Given the description of an element on the screen output the (x, y) to click on. 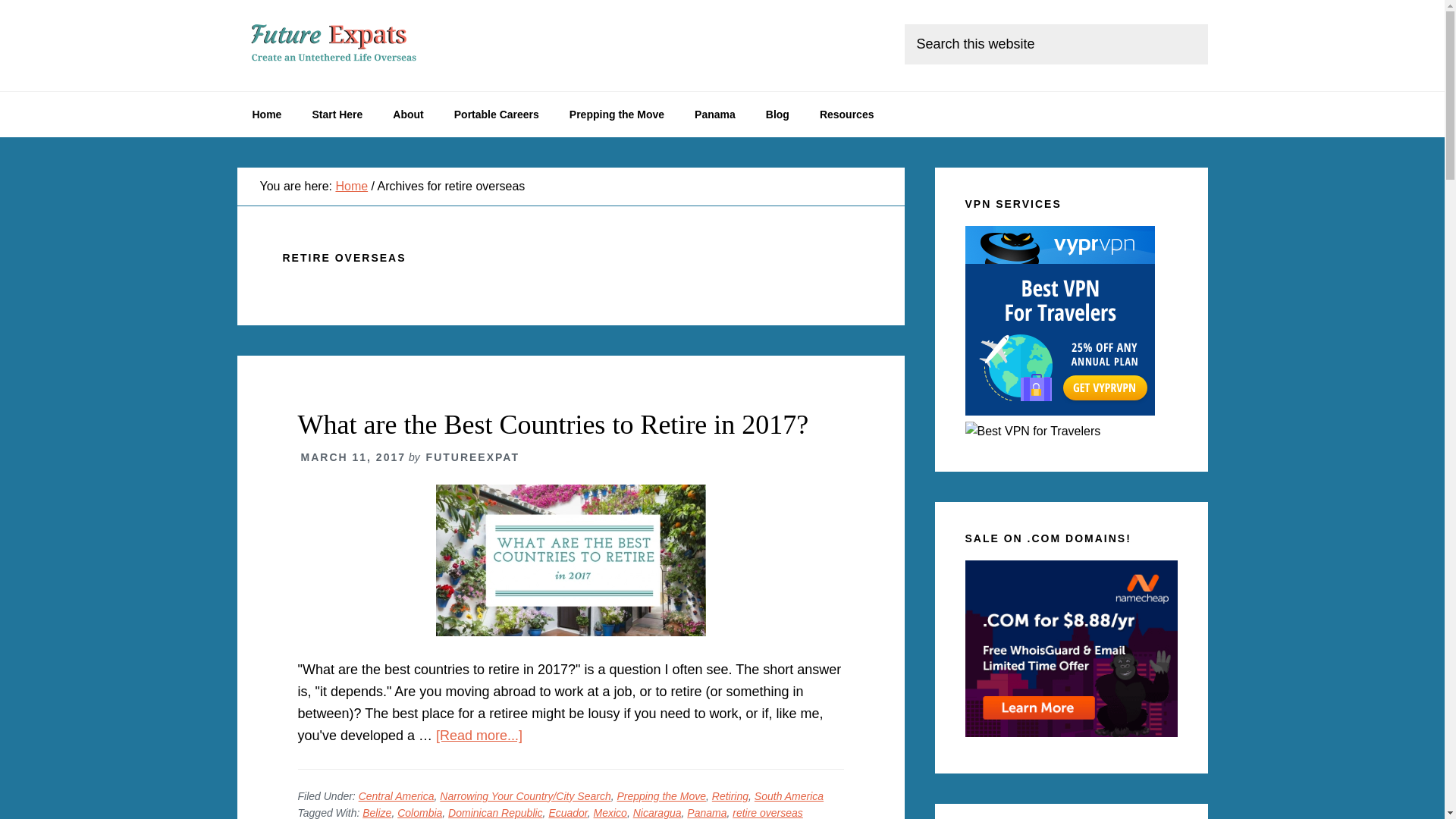
Start Here (337, 114)
Future Expats (349, 45)
Prepping the Move (616, 114)
Portable Careers (496, 114)
About (407, 114)
Home (266, 114)
